Given the description of an element on the screen output the (x, y) to click on. 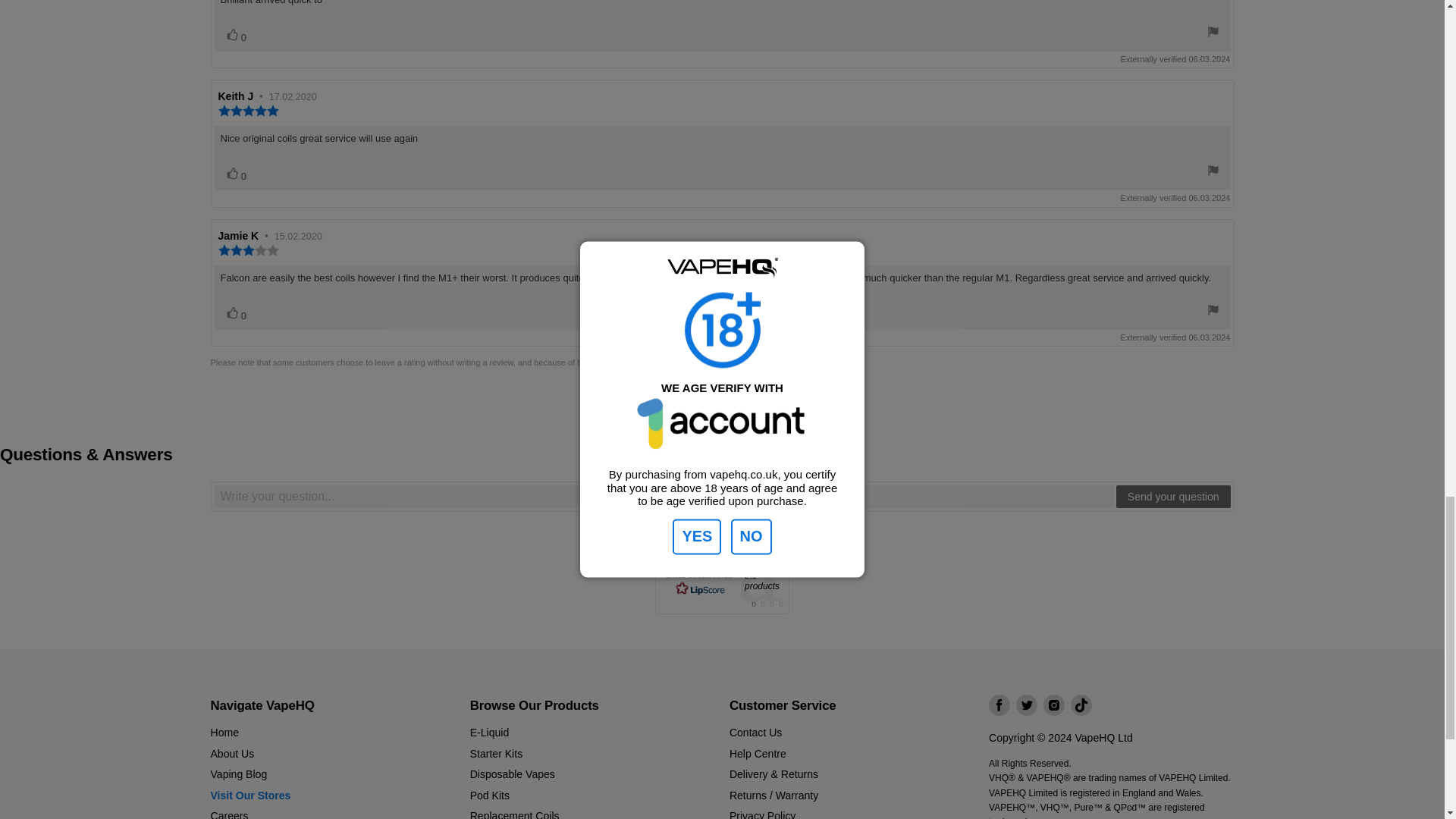
Twitter (1026, 704)
Facebook (999, 704)
